Given the description of an element on the screen output the (x, y) to click on. 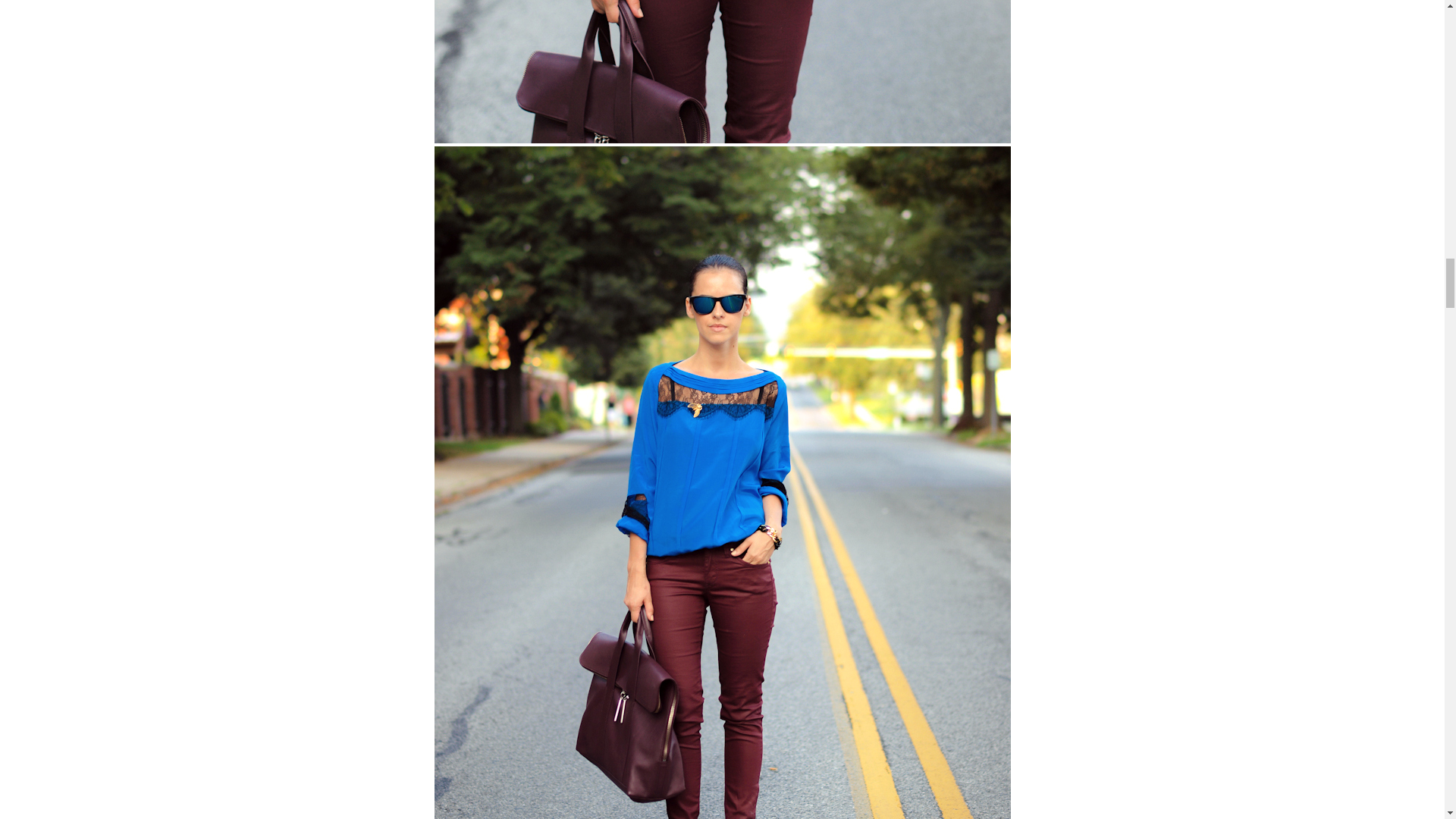
Glimpses of Fall Colors (721, 71)
